Given the description of an element on the screen output the (x, y) to click on. 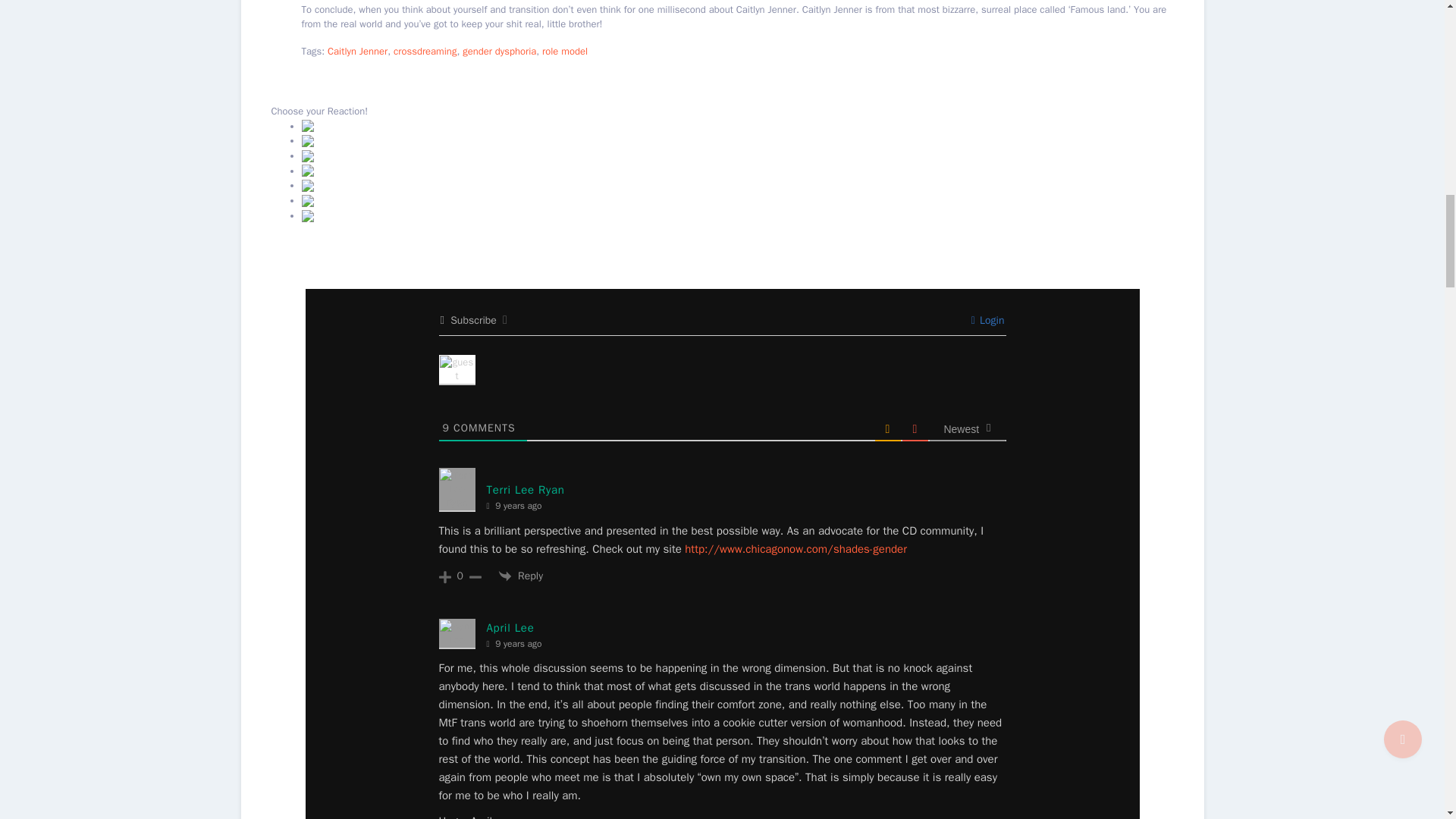
crossdreaming (425, 51)
Login (987, 319)
gender dysphoria (499, 51)
Caitlyn Jenner (357, 51)
role model (564, 51)
